Given the description of an element on the screen output the (x, y) to click on. 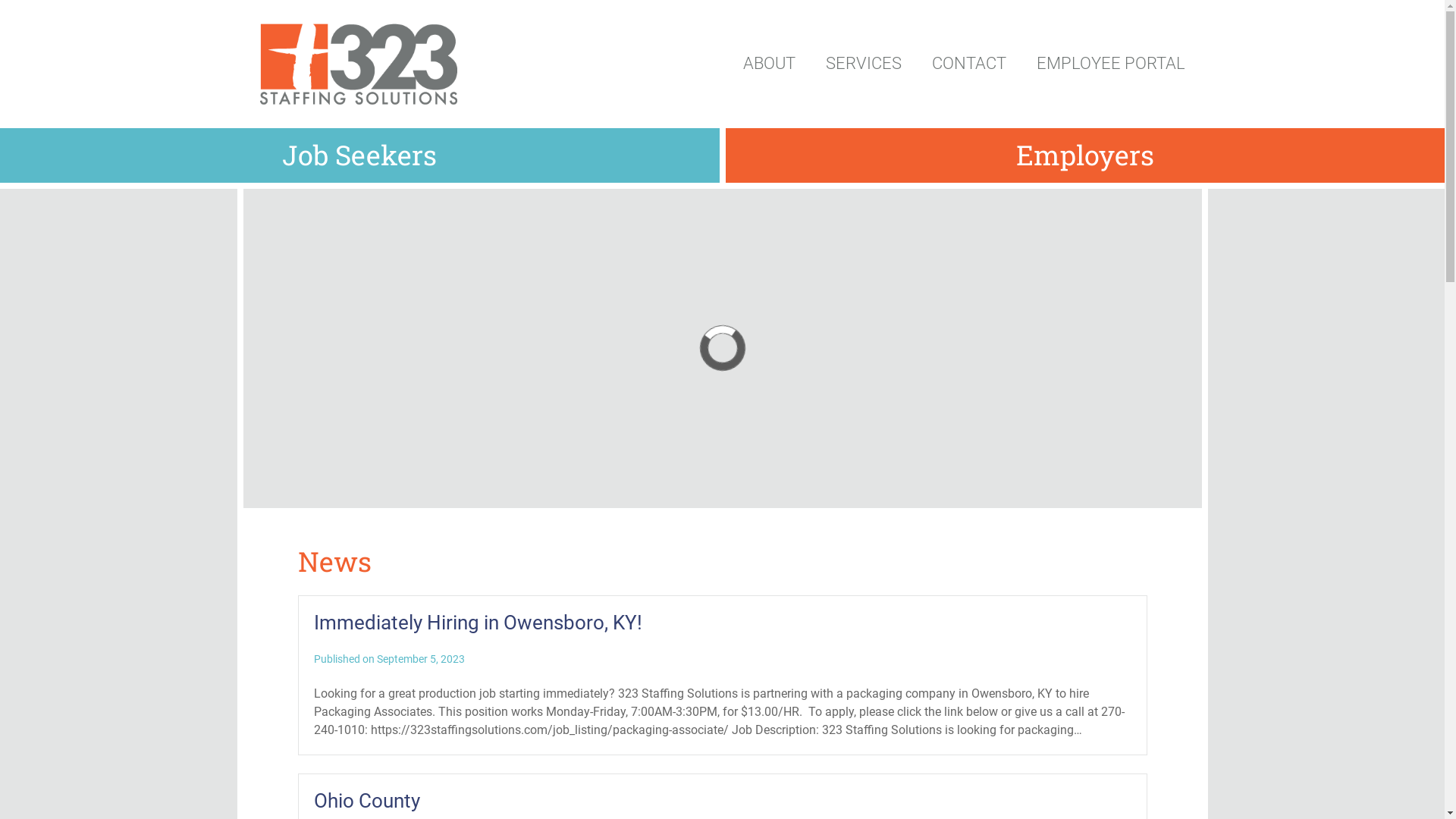
Immediately Hiring in Owensboro, KY! Element type: text (722, 622)
SERVICES Element type: text (862, 63)
ABOUT Element type: text (769, 63)
Home Element type: hover (357, 63)
Employers Element type: text (1084, 155)
Job Seekers Element type: text (359, 155)
Ohio County Element type: text (722, 800)
EMPLOYEE PORTAL Element type: text (1109, 63)
CONTACT Element type: text (968, 63)
